Given the description of an element on the screen output the (x, y) to click on. 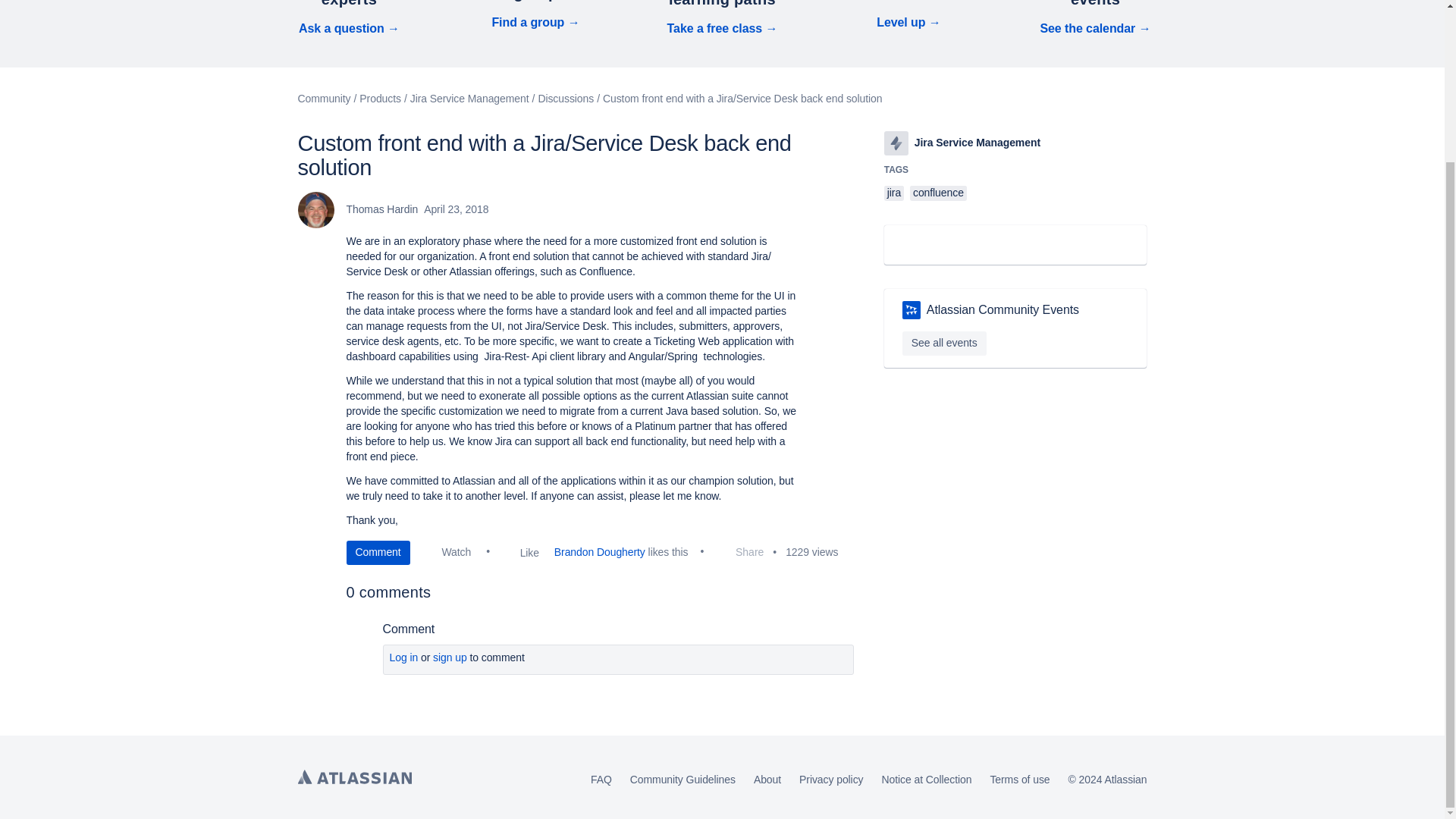
Thomas Hardin (315, 209)
AUG Leaders (911, 310)
Jira Service Desk (895, 143)
